Given the description of an element on the screen output the (x, y) to click on. 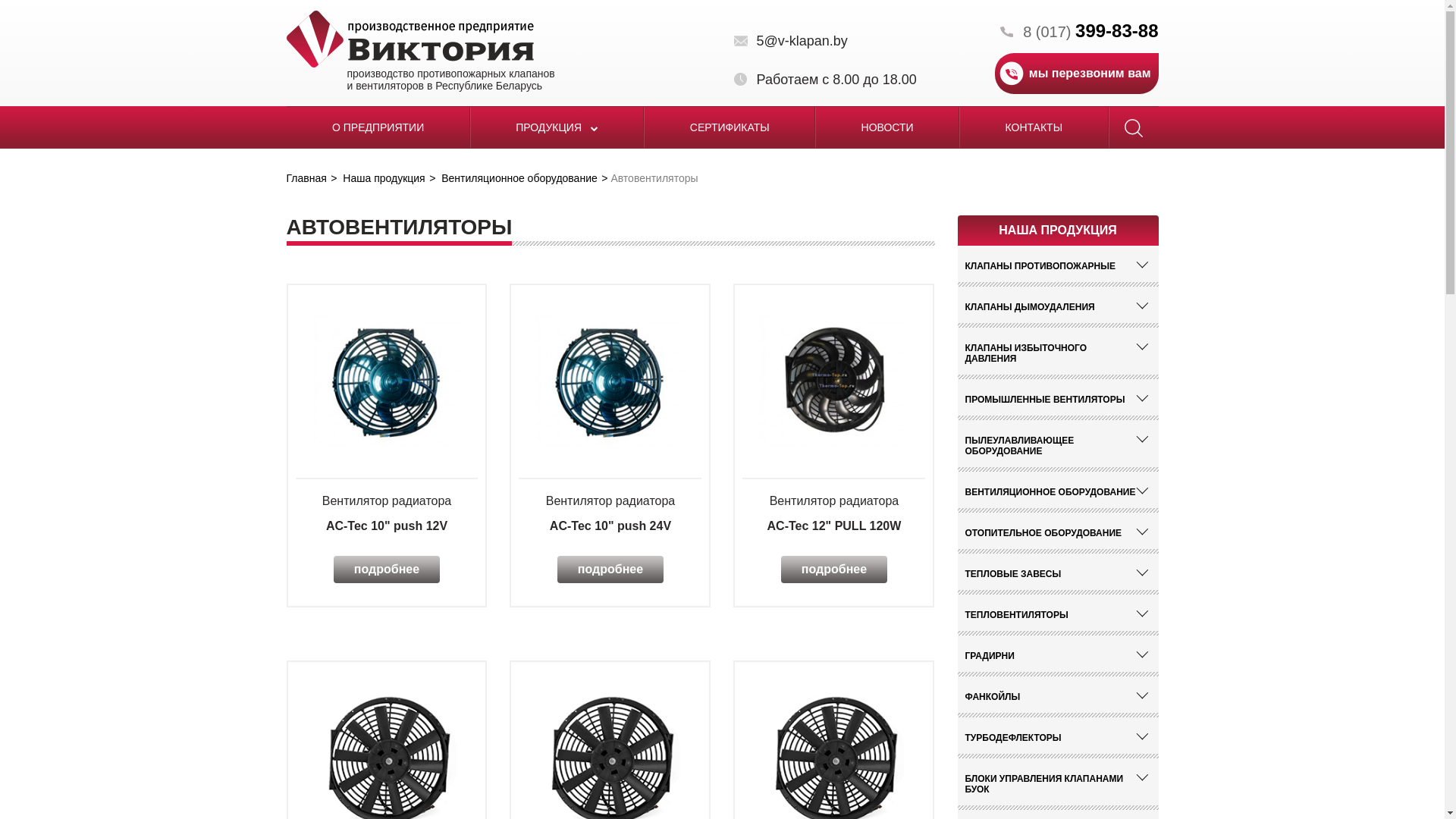
AC-Tec 10" push 24V Element type: hover (609, 380)
5@v-klapan.by Element type: text (790, 40)
8 (017) 399-83-88 Element type: text (1078, 30)
AC-Tec 12" PULL 120W Element type: hover (833, 380)
 AC-Tec 10" push 12V Element type: hover (386, 380)
